Given the description of an element on the screen output the (x, y) to click on. 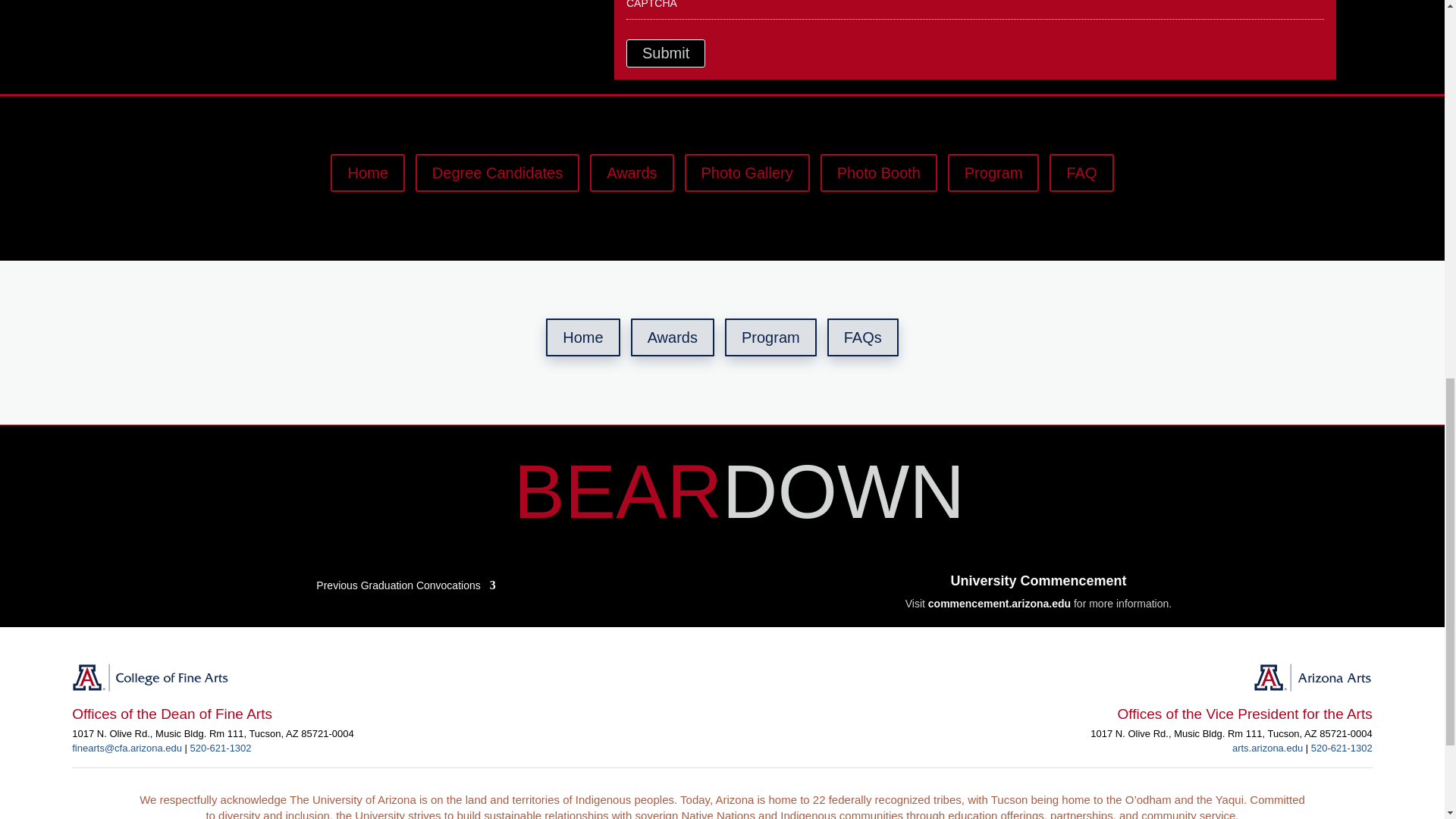
CFA-Lockup-UABlue (149, 677)
Submit (665, 53)
520-621-1302 (220, 747)
520-621-1302 (1342, 747)
FAQs (862, 337)
commencement.arizona.edu (999, 603)
arts.arizona.edu (1267, 747)
Degree Candidates (496, 172)
ArizonaArts-Lockup-UABlue (1312, 677)
Home (367, 172)
Home (583, 337)
Previous Graduation Convocations (405, 582)
Submit (665, 53)
Photo Gallery (746, 172)
FAQ (1081, 172)
